Given the description of an element on the screen output the (x, y) to click on. 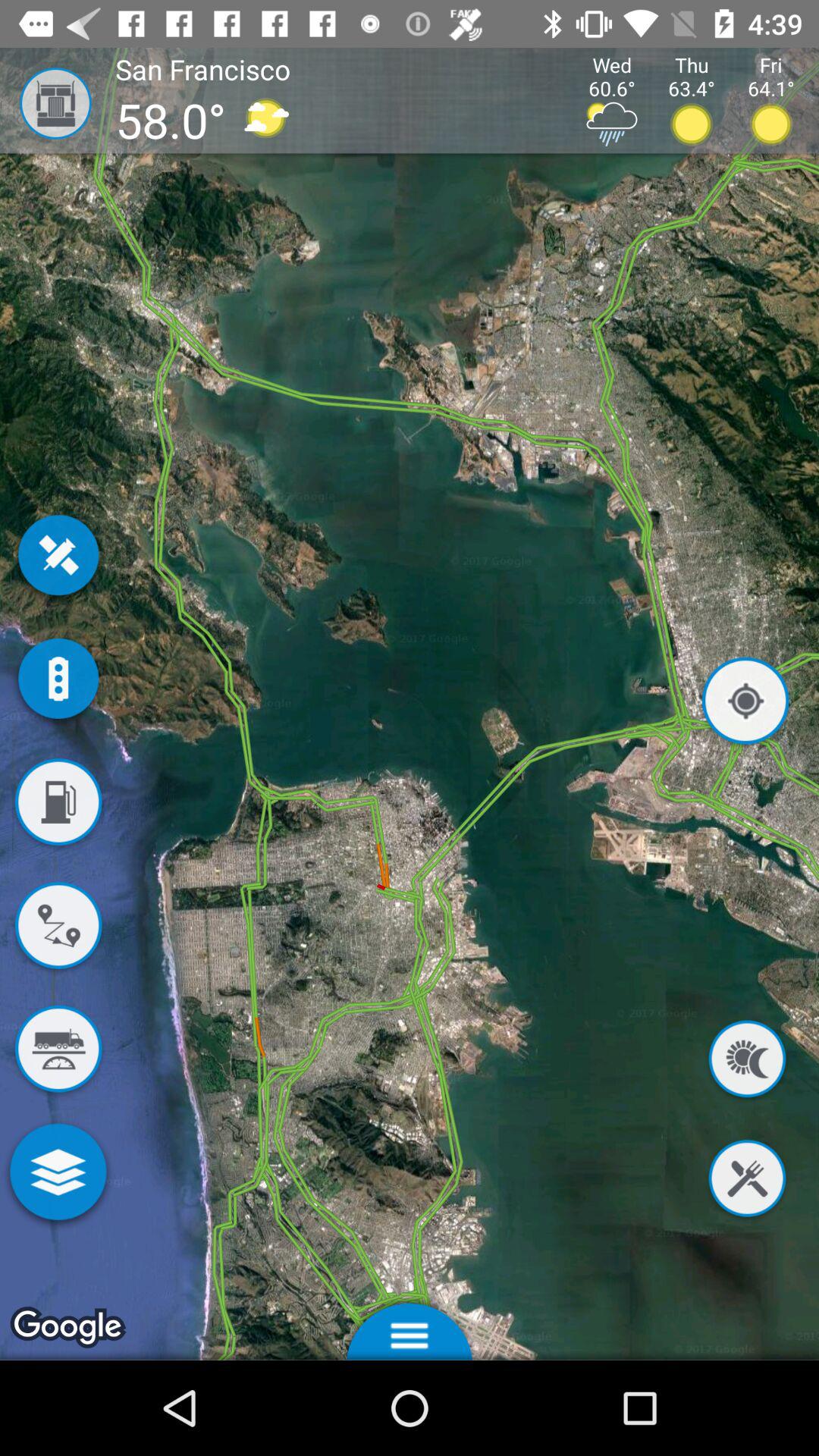
more options (57, 1175)
